Given the description of an element on the screen output the (x, y) to click on. 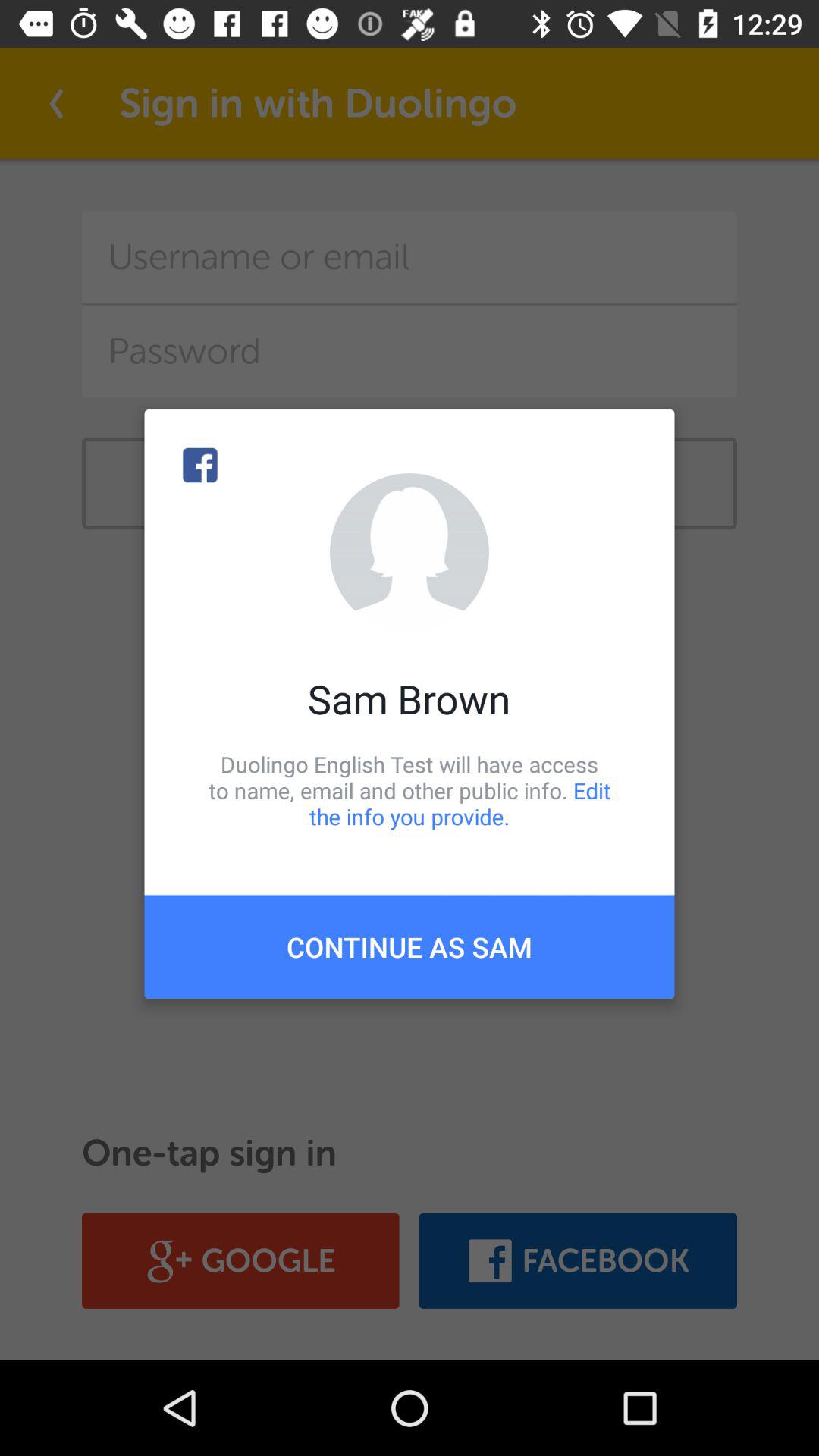
tap item below duolingo english test item (409, 946)
